Given the description of an element on the screen output the (x, y) to click on. 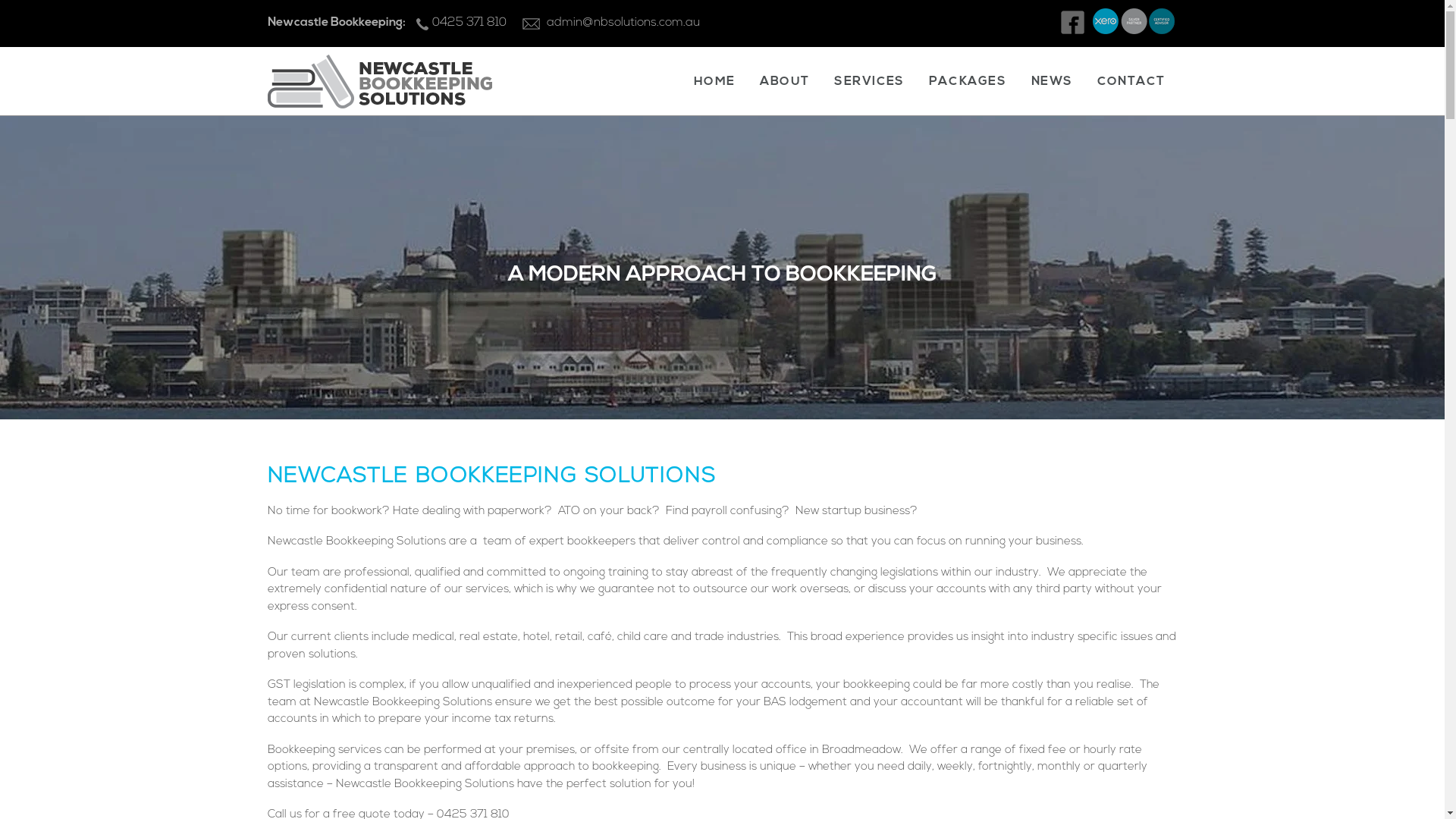
CONTACT Element type: text (1130, 84)
0425 371 810 Element type: text (456, 22)
Facebook Element type: hover (1075, 30)
admin@nbsolutions.com.au Element type: text (622, 22)
NEWS Element type: text (1052, 84)
SERVICES Element type: text (869, 84)
PACKAGES Element type: text (967, 84)
ABOUT Element type: text (784, 84)
HOME Element type: text (713, 84)
YouTube Element type: hover (1134, 30)
